Given the description of an element on the screen output the (x, y) to click on. 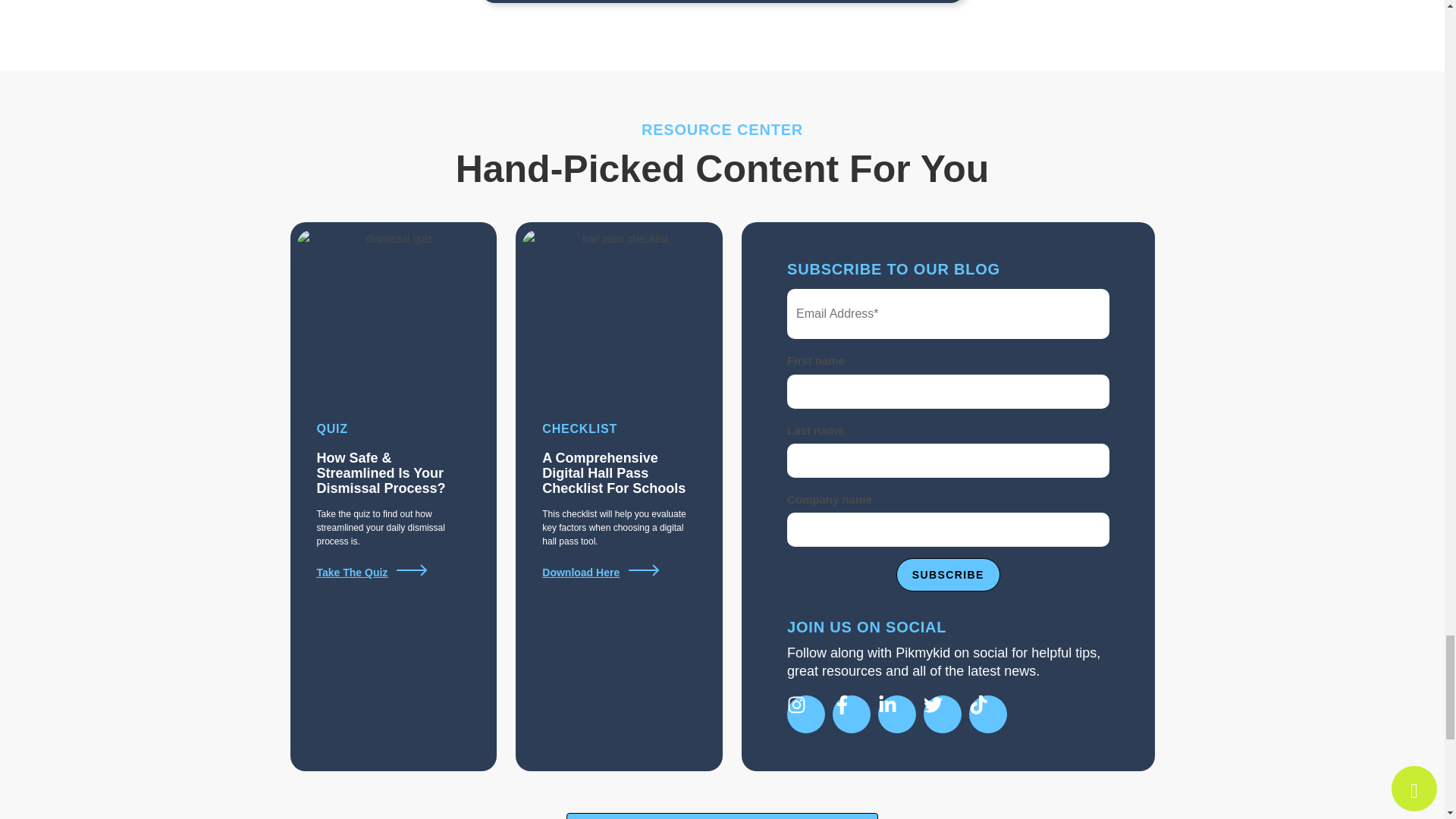
Subscribe (948, 574)
